Given the description of an element on the screen output the (x, y) to click on. 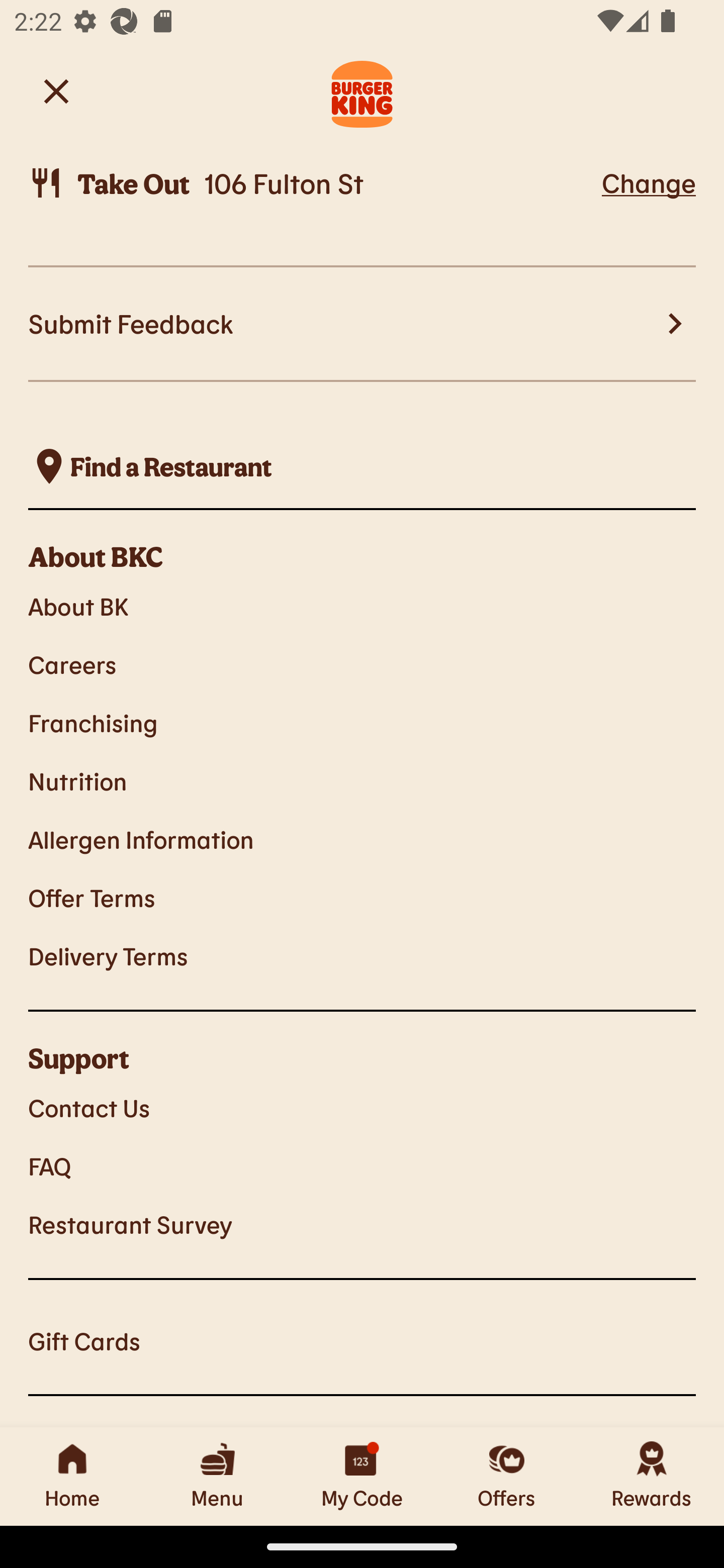
Burger King Logo. Navigate to Home (362, 91)
Back  (56, 90)
Take Out, 106 Fulton St  Take Out 106 Fulton St (311, 183)
Change (648, 182)
Submit Feedback Submit Feedback  (361, 325)
, Find a Restaurant  Find a Restaurant (361, 466)
About BK (361, 606)
Careers (361, 664)
Franchising (361, 722)
Nutrition (361, 780)
Allergen Information (361, 838)
Offer Terms (361, 897)
Delivery Terms (361, 955)
Contact Us (361, 1107)
FAQ (361, 1165)
Restaurant Survey (361, 1224)
Gift Cards (361, 1340)
Home (72, 1475)
Menu (216, 1475)
My Code (361, 1475)
Offers (506, 1475)
Rewards (651, 1475)
